Given the description of an element on the screen output the (x, y) to click on. 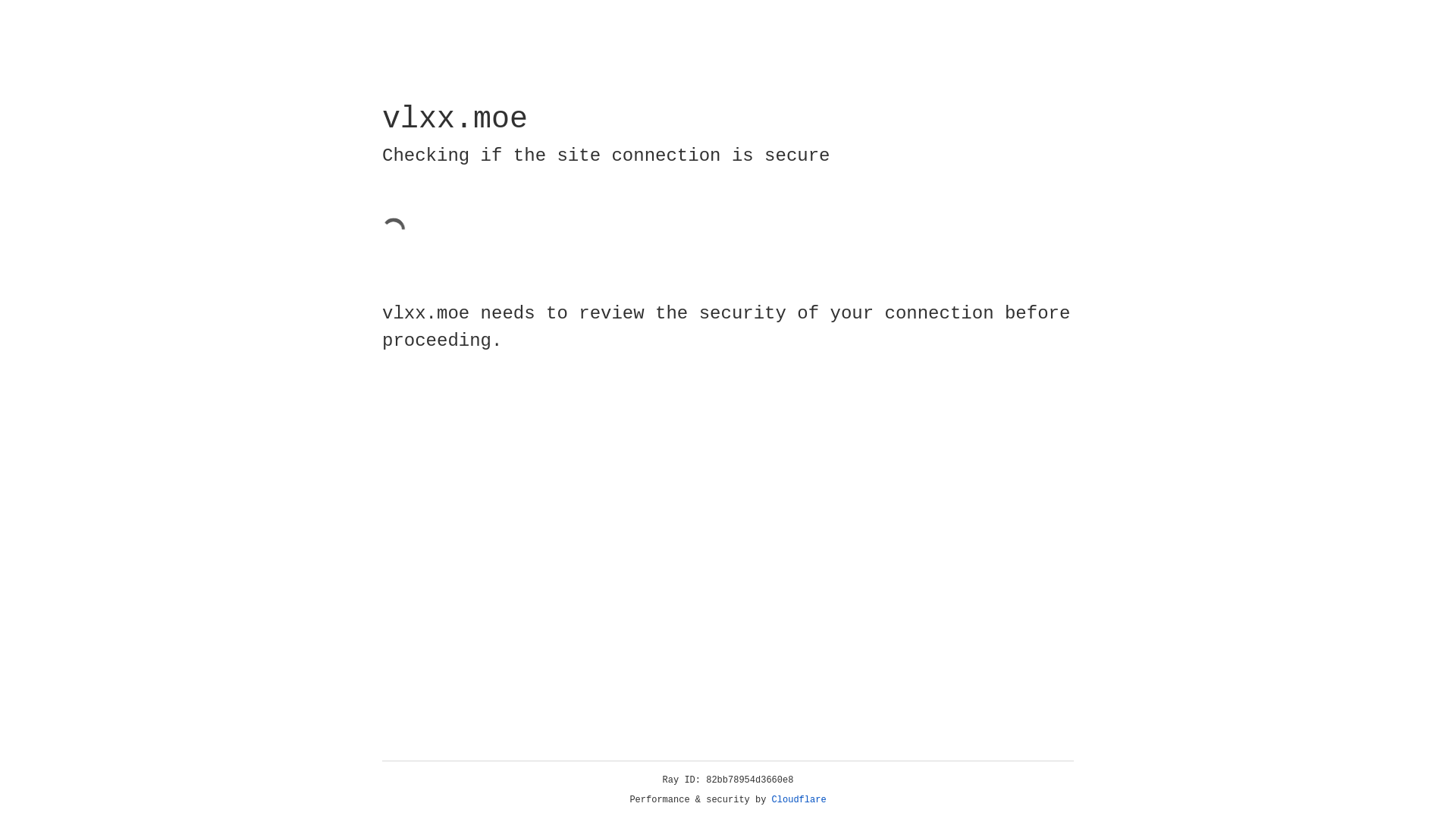
Cloudflare Element type: text (798, 799)
